Given the description of an element on the screen output the (x, y) to click on. 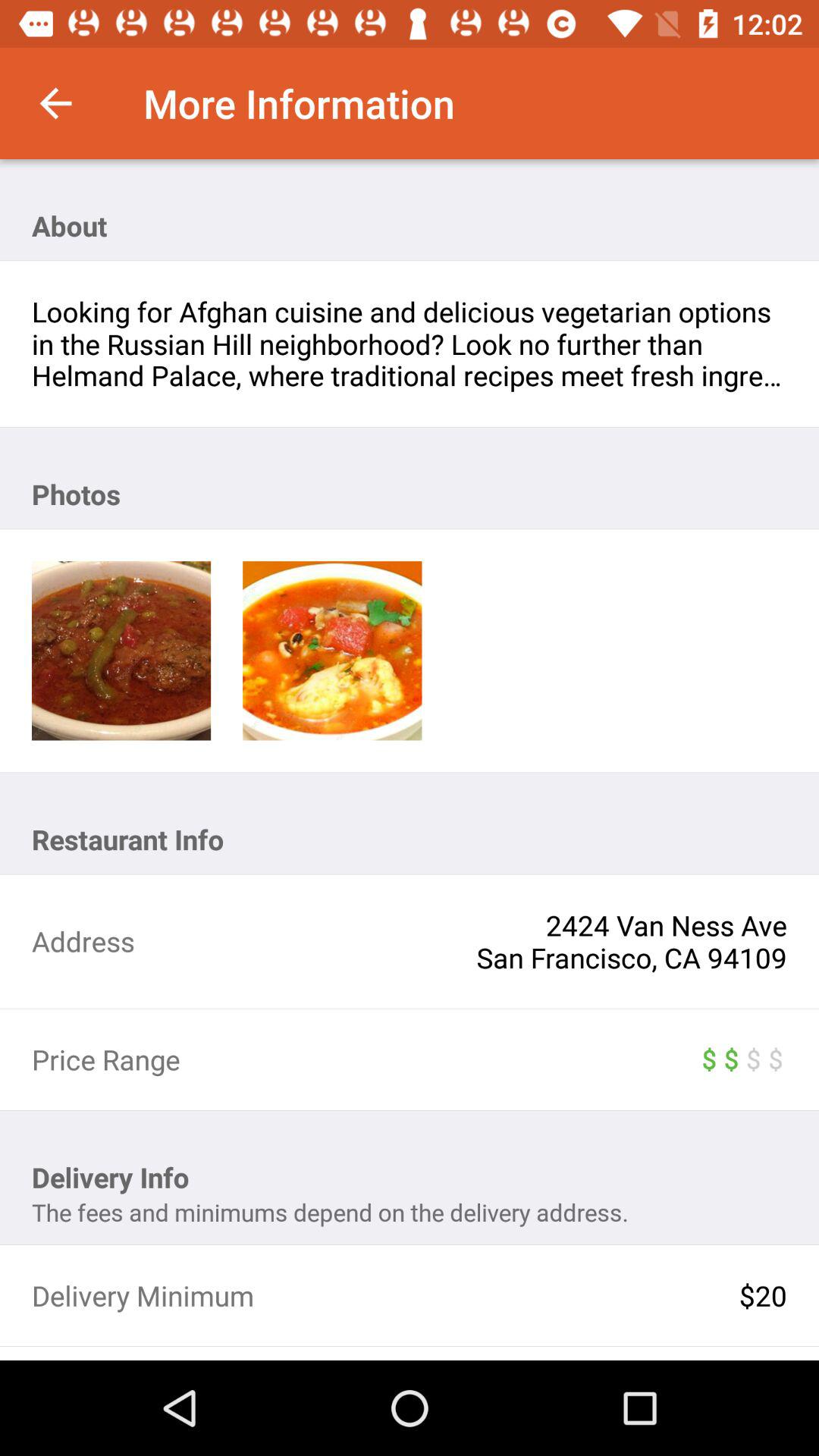
turn on the item above about icon (55, 103)
